Given the description of an element on the screen output the (x, y) to click on. 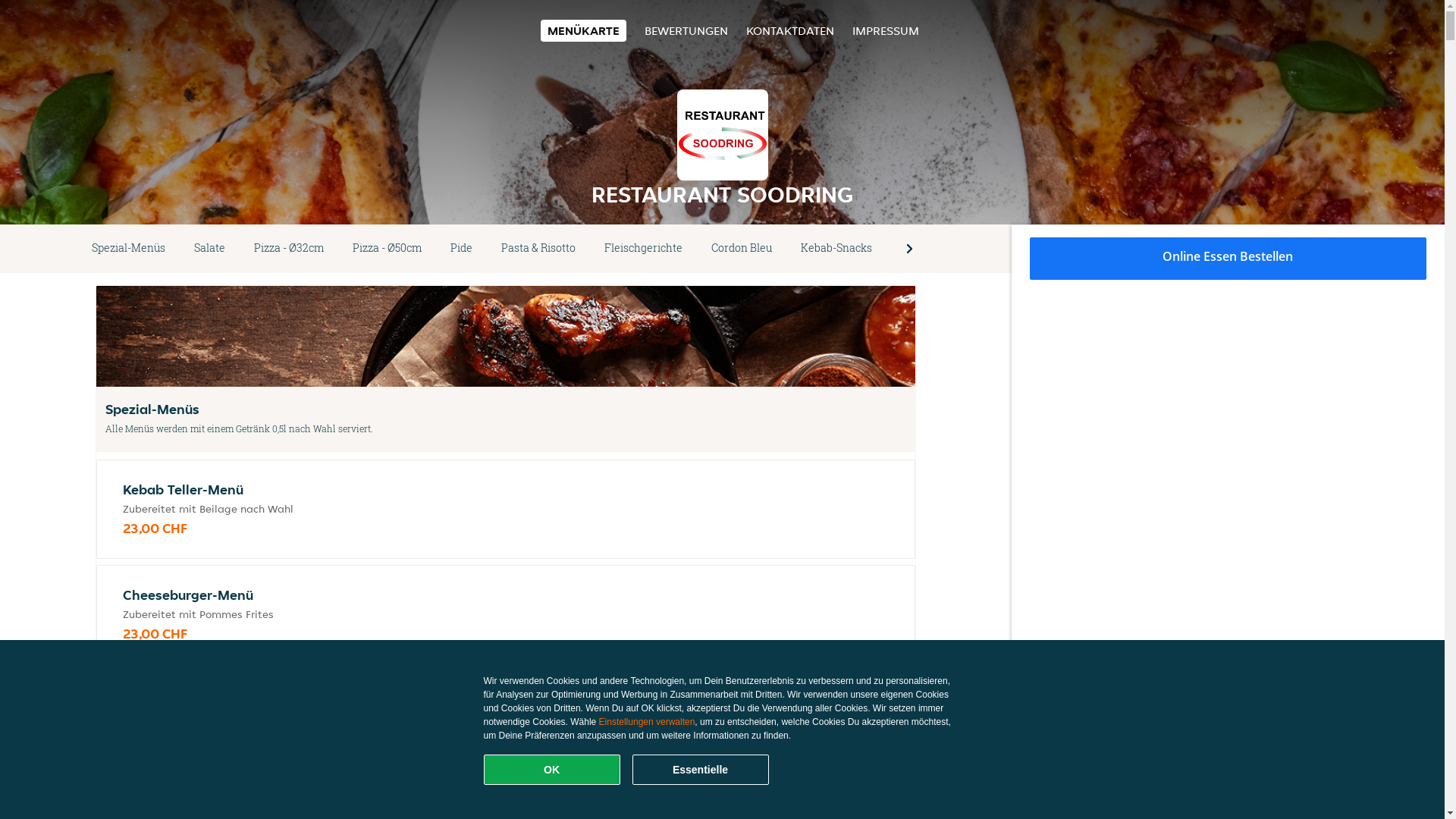
Pide Element type: text (461, 248)
Essentielle Element type: text (700, 769)
Einstellungen verwalten Element type: text (647, 721)
Pasta & Risotto Element type: text (537, 248)
KONTAKTDATEN Element type: text (790, 30)
Kebab-Snacks Element type: text (836, 248)
Online Essen Bestellen Element type: text (1228, 258)
OK Element type: text (551, 769)
IMPRESSUM Element type: text (885, 30)
BEWERTUNGEN Element type: text (686, 30)
Cordon Bleu Element type: text (741, 248)
Fleischgerichte Element type: text (642, 248)
Salate Element type: text (209, 248)
